Given the description of an element on the screen output the (x, y) to click on. 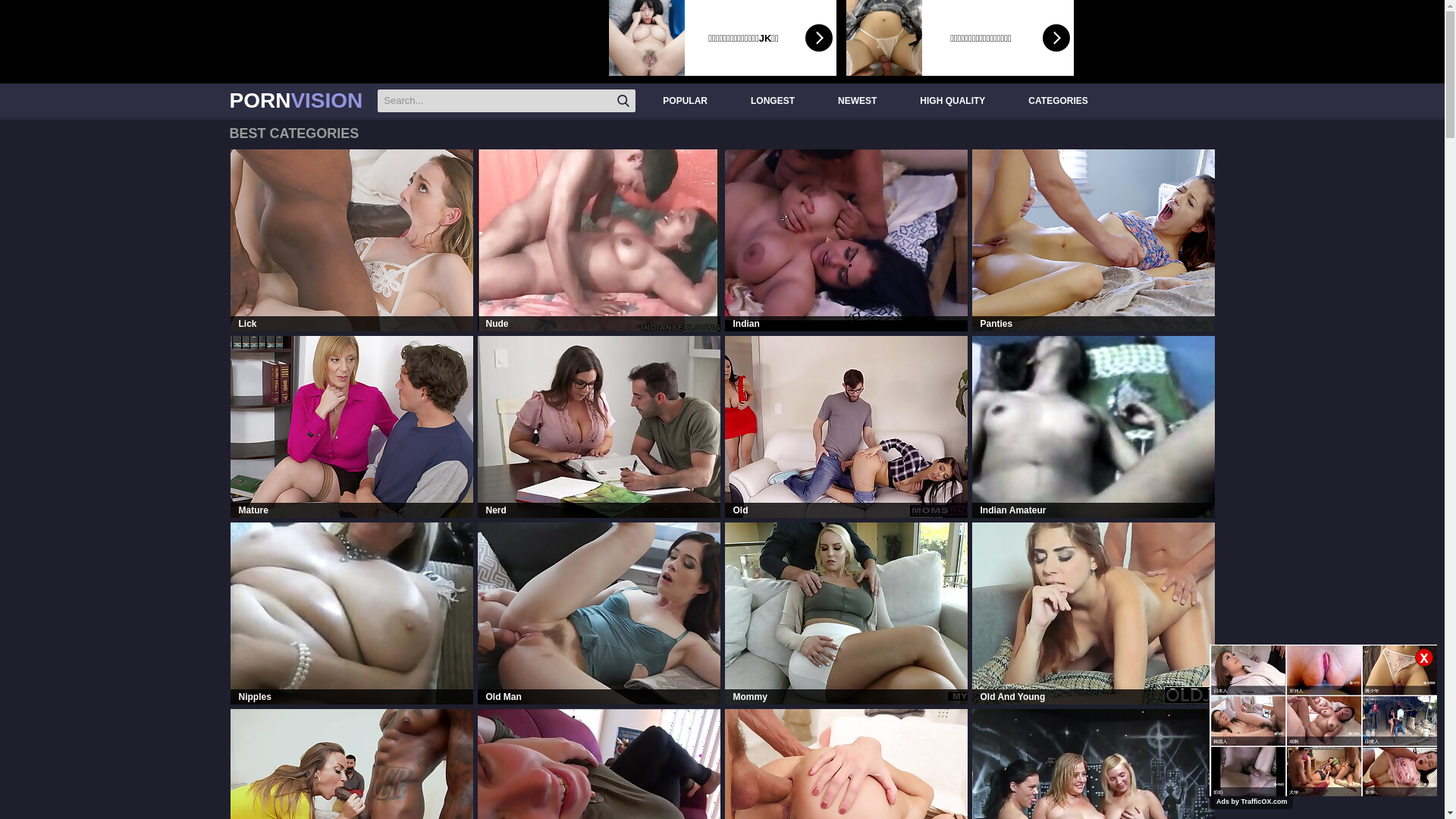
Nude Element type: text (598, 240)
Old Man Element type: text (598, 613)
Mommy Element type: text (845, 613)
PORNVISION Element type: text (295, 100)
Nipples Element type: text (351, 613)
Mature Element type: text (351, 426)
CATEGORIES Element type: text (1055, 100)
Indian Element type: text (845, 240)
Panties Element type: text (1093, 240)
Old Element type: text (845, 426)
Nerd Element type: text (598, 426)
NEWEST Element type: text (855, 100)
HIGH QUALITY Element type: text (950, 100)
Search X Videos Element type: hover (506, 100)
Old And Young Element type: text (1093, 613)
POPULAR Element type: text (683, 100)
Indian Amateur Element type: text (1093, 426)
Ads by TrafficOX.com Element type: text (1251, 801)
LONGEST Element type: text (770, 100)
Lick Element type: text (351, 240)
